Given the description of an element on the screen output the (x, y) to click on. 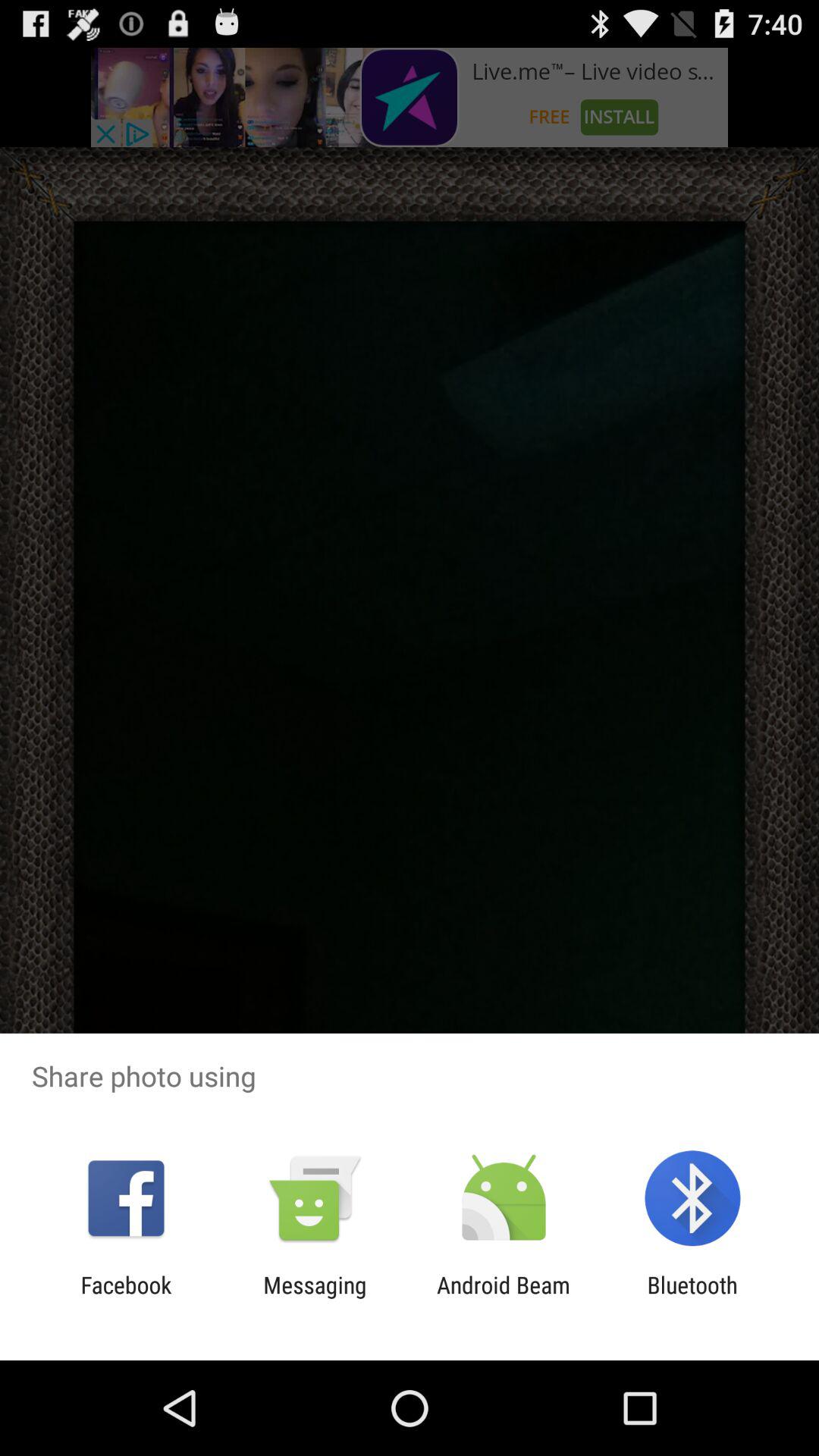
click the facebook item (125, 1298)
